Given the description of an element on the screen output the (x, y) to click on. 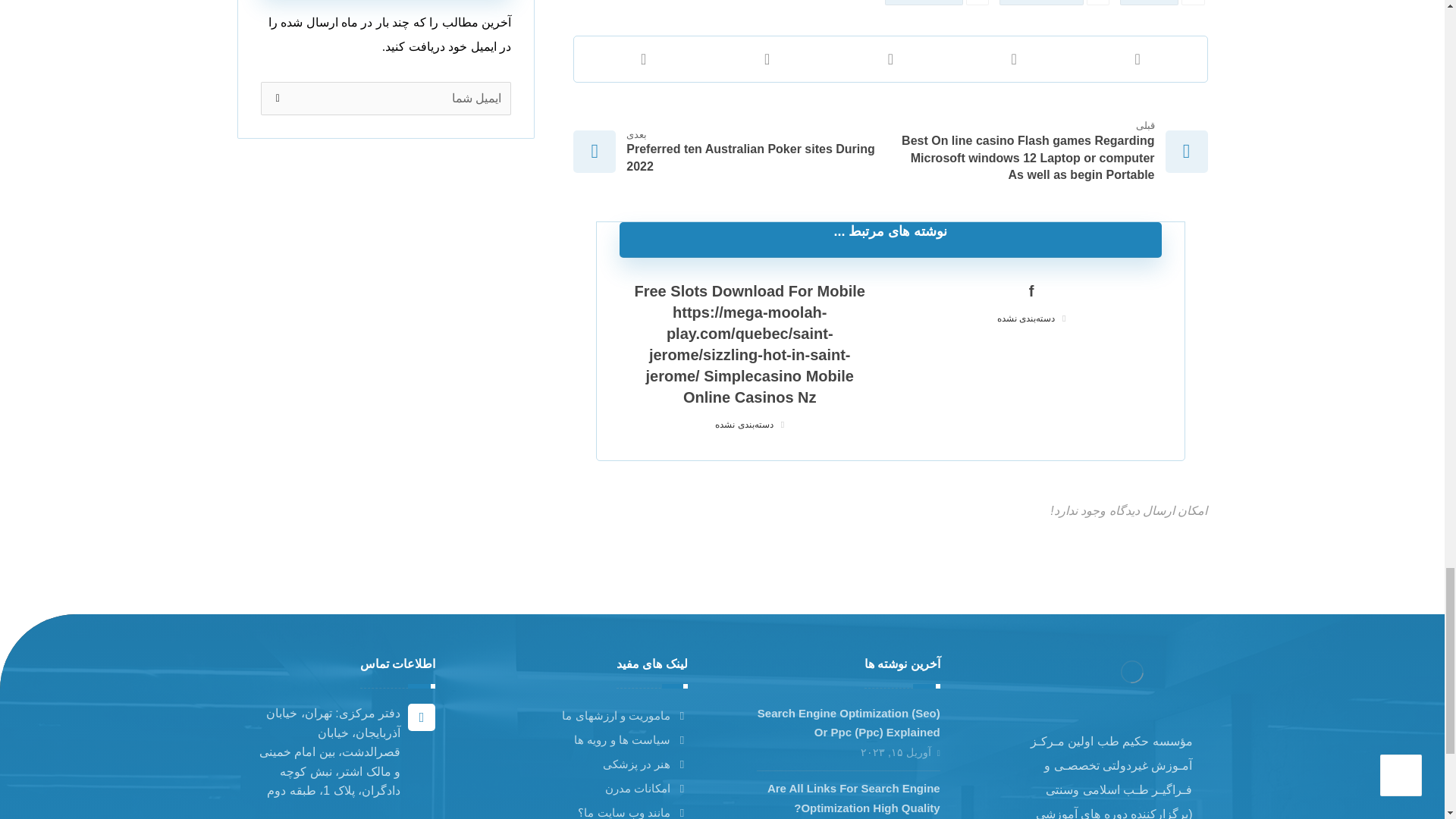
Are All Links For Search Engine Optimization High Quality? (853, 798)
